Given the description of an element on the screen output the (x, y) to click on. 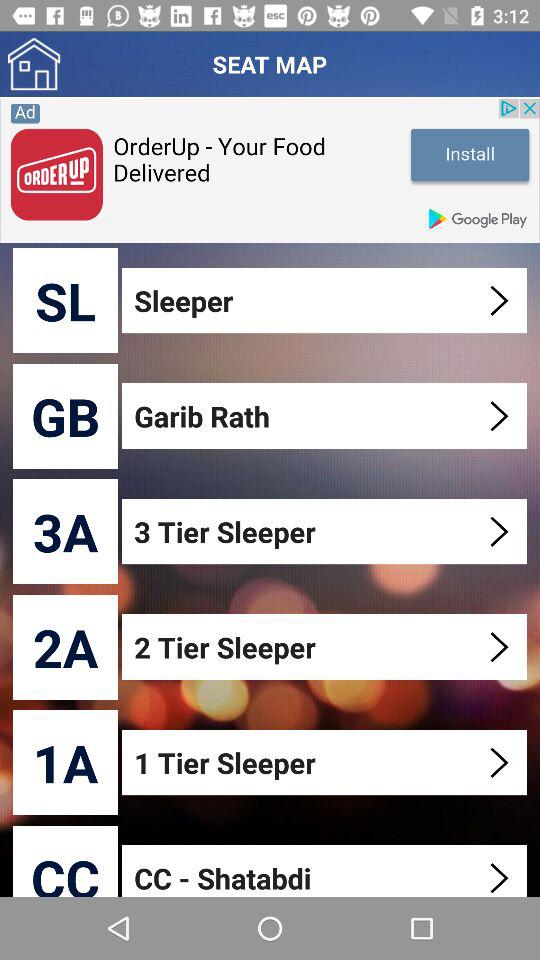
swipe to sl icon (65, 300)
